Given the description of an element on the screen output the (x, y) to click on. 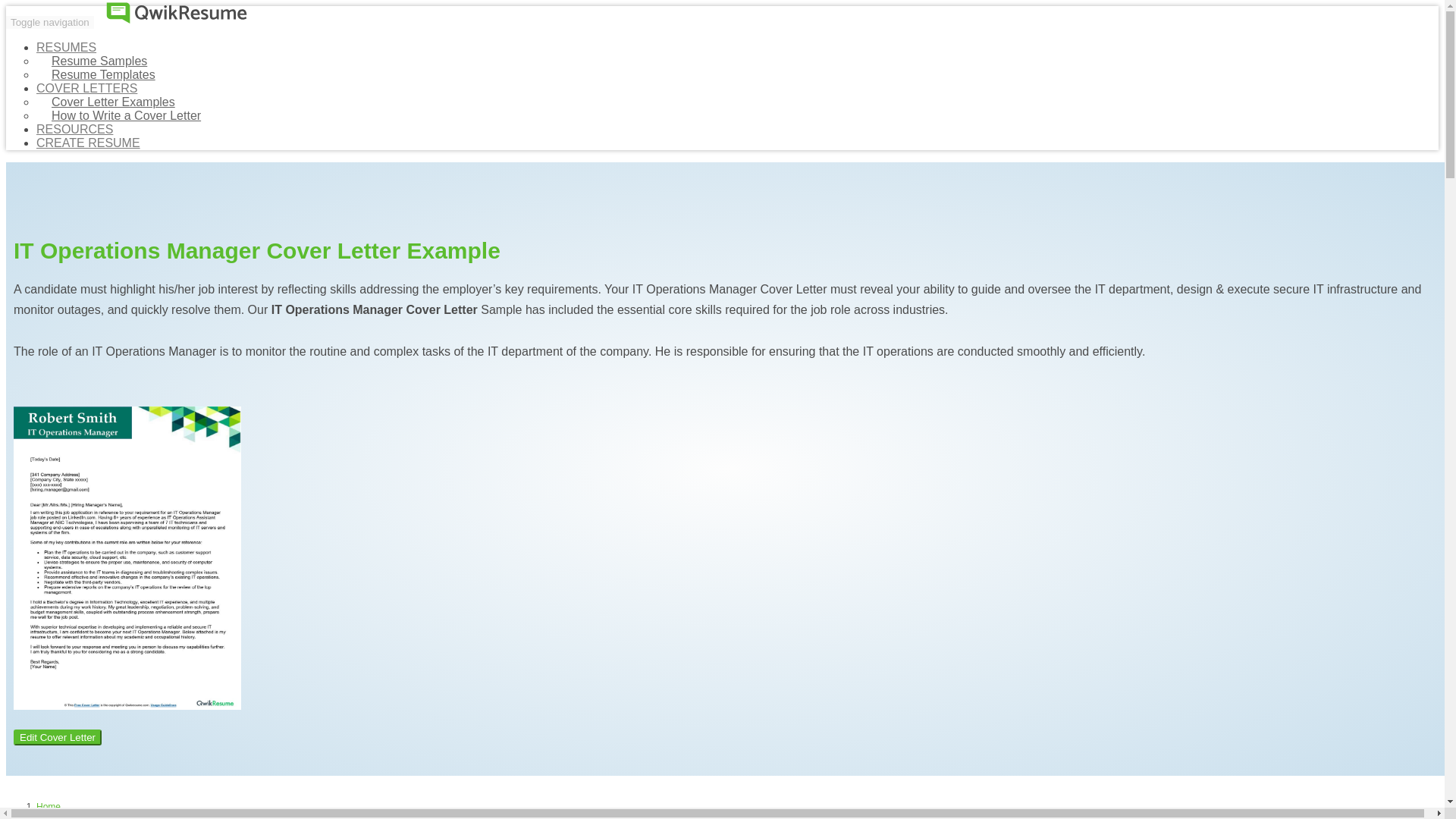
Cover Letter Examples (113, 101)
Resources (74, 128)
Resume Templates (103, 74)
Home (48, 806)
Cover Letters (63, 817)
Edit Cover Letter (57, 737)
Resume Templates (103, 74)
How to Write a Cover Letter (125, 115)
Resume Samples (98, 60)
Create Resume (87, 142)
CREATE RESUME (87, 142)
RESUMES (66, 47)
Cover Letter Examples (113, 101)
How to Write a Cover Letter (125, 115)
Resume Samples (98, 60)
